Given the description of an element on the screen output the (x, y) to click on. 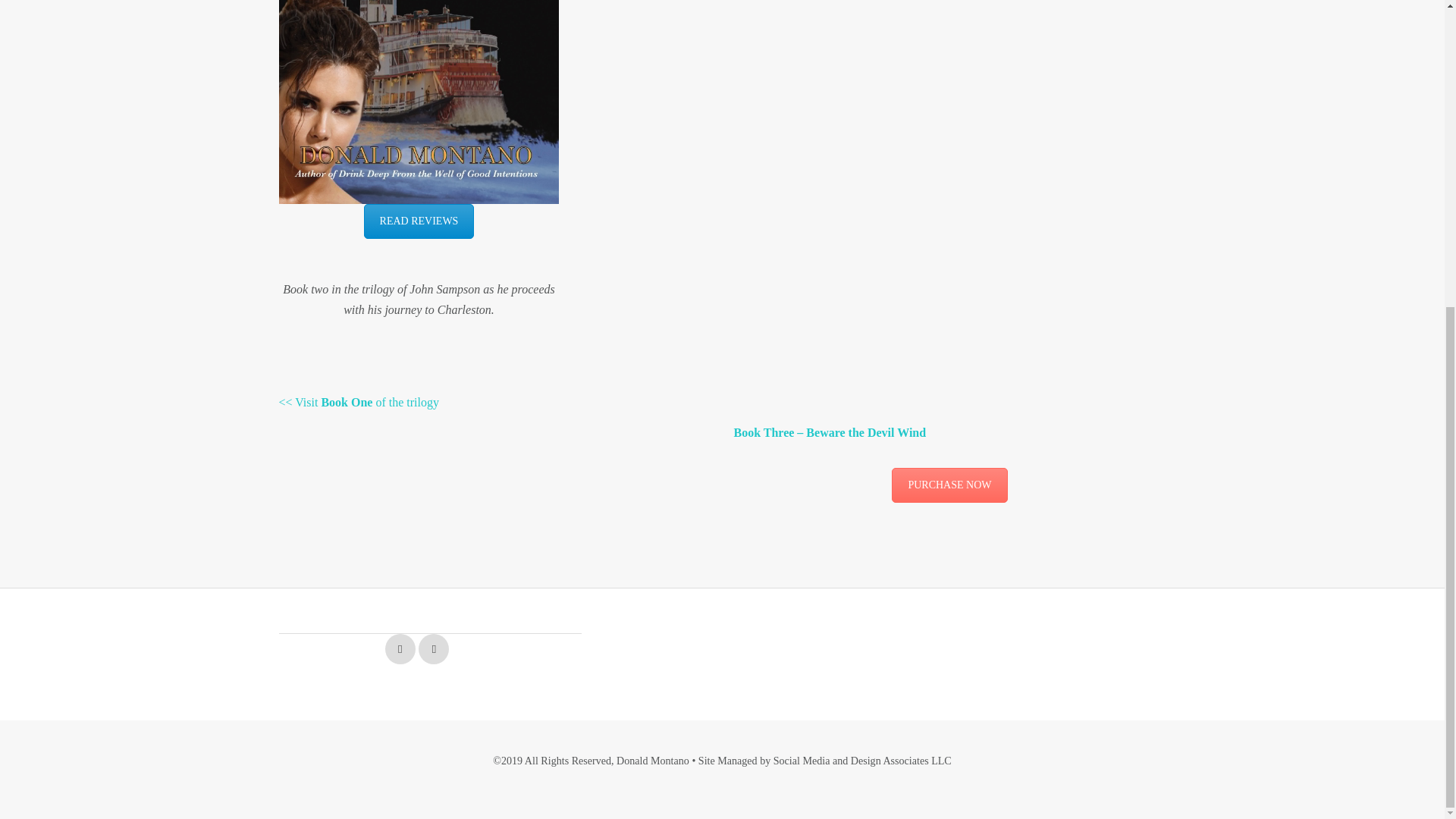
The Dangerous Journey Home (949, 484)
Book Reviews for The Dangerous Journey Home (419, 221)
READ REVIEWS (419, 221)
PURCHASE NOW (949, 484)
